Given the description of an element on the screen output the (x, y) to click on. 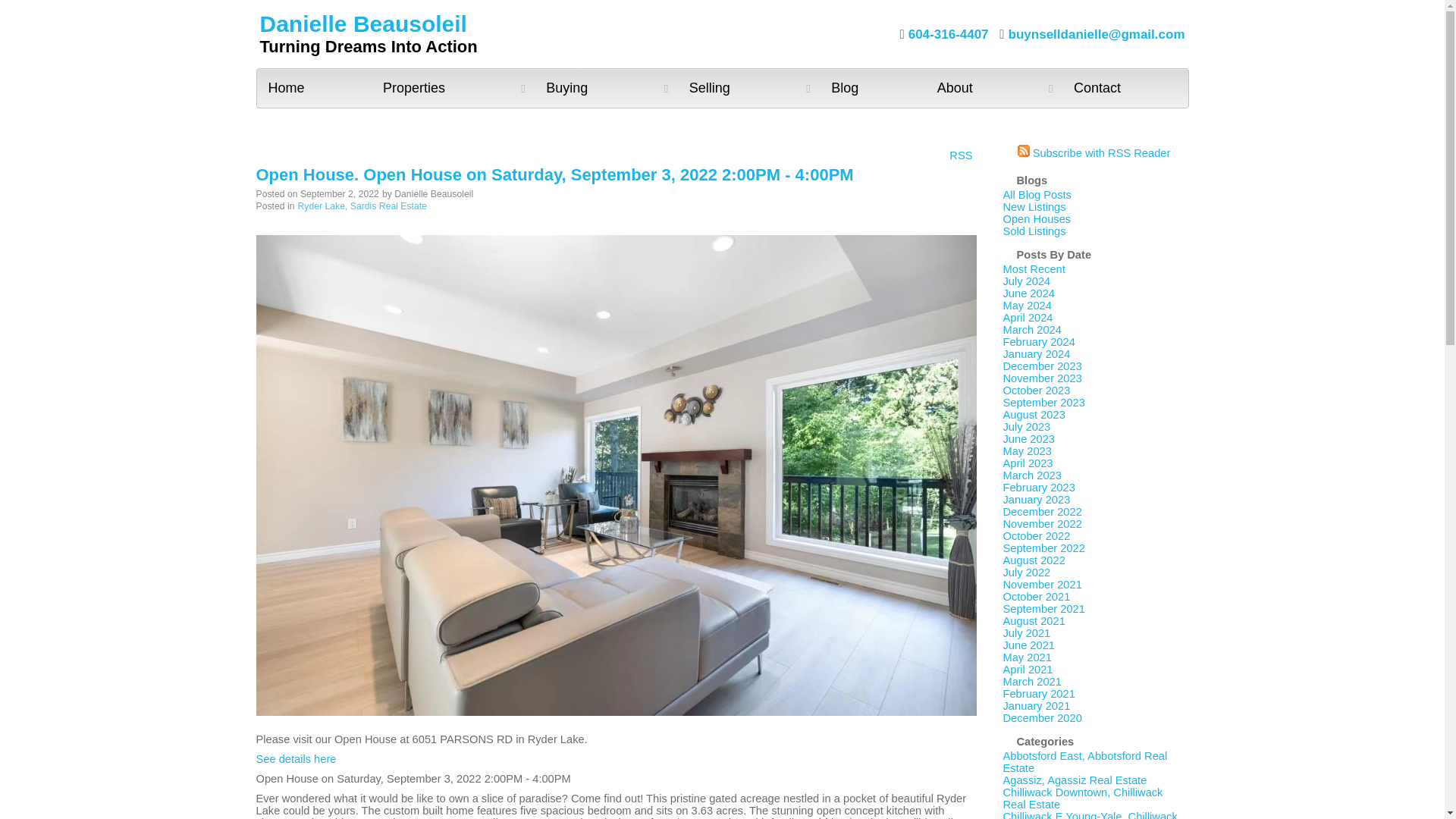
RSS (959, 154)
Ryder Lake, Sardis Real Estate (362, 205)
July 2024 (1026, 281)
Subscribe with RSS Reader (1093, 152)
Contact (1125, 87)
See details here (296, 758)
About (994, 87)
May 2024 (1027, 305)
April 2024 (1027, 317)
Selling (748, 87)
Open Houses (1036, 218)
Properties (452, 87)
December 2023 (1042, 366)
Blog (871, 87)
January 2024 (1036, 354)
